Given the description of an element on the screen output the (x, y) to click on. 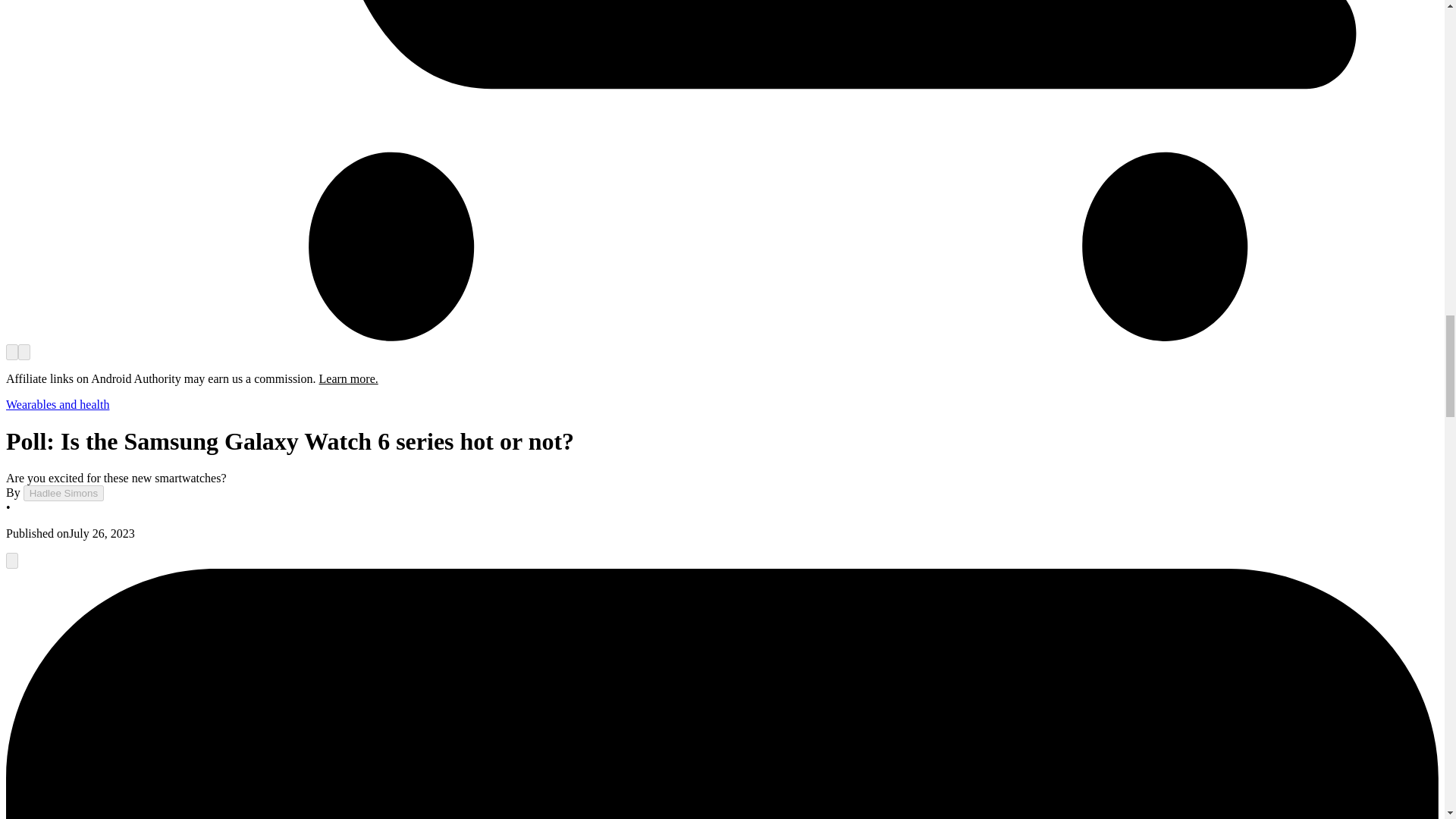
Wearables and health (57, 404)
Hadlee Simons (63, 493)
Learn more. (348, 378)
